Given the description of an element on the screen output the (x, y) to click on. 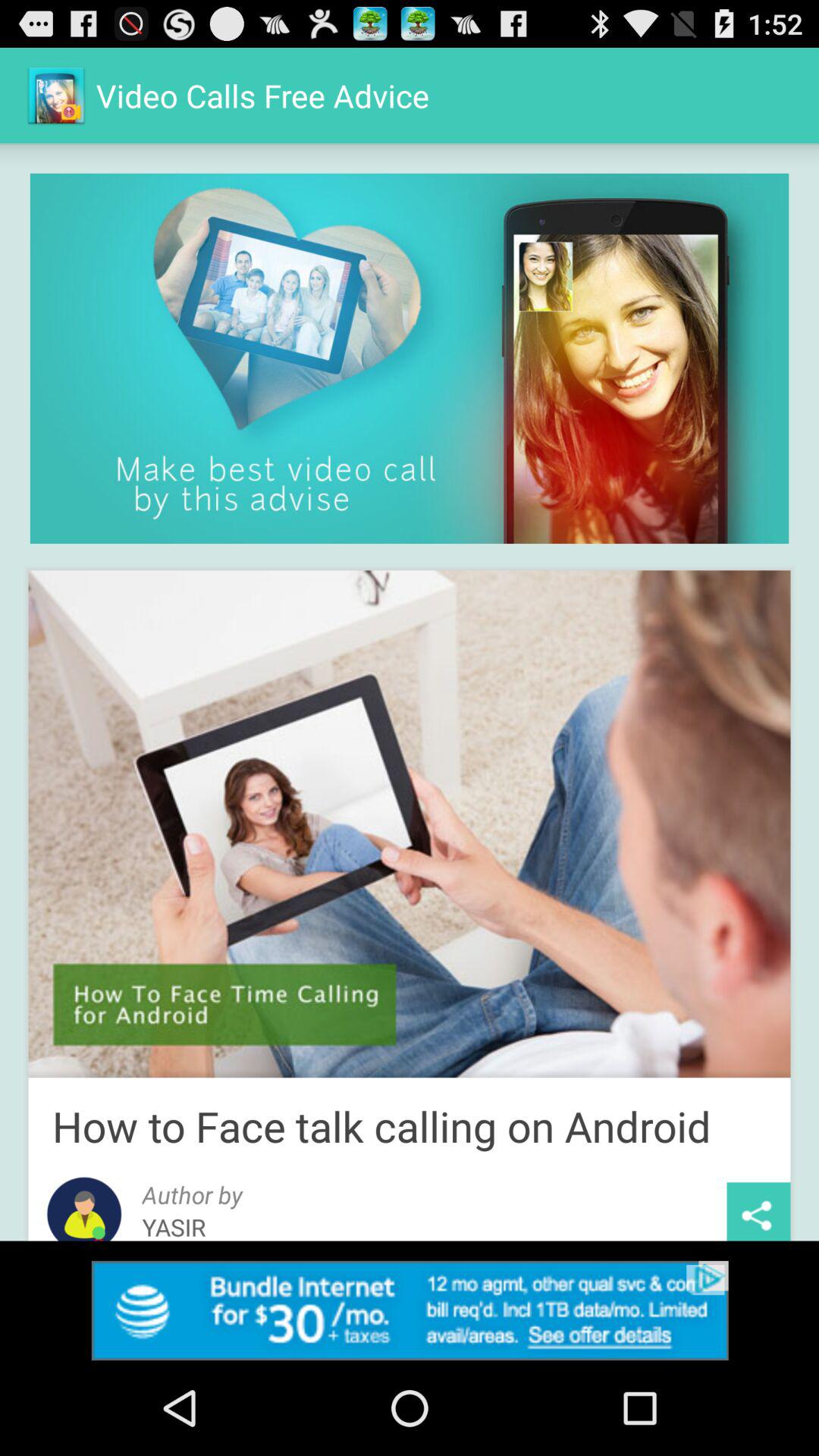
go to share (758, 1211)
